Given the description of an element on the screen output the (x, y) to click on. 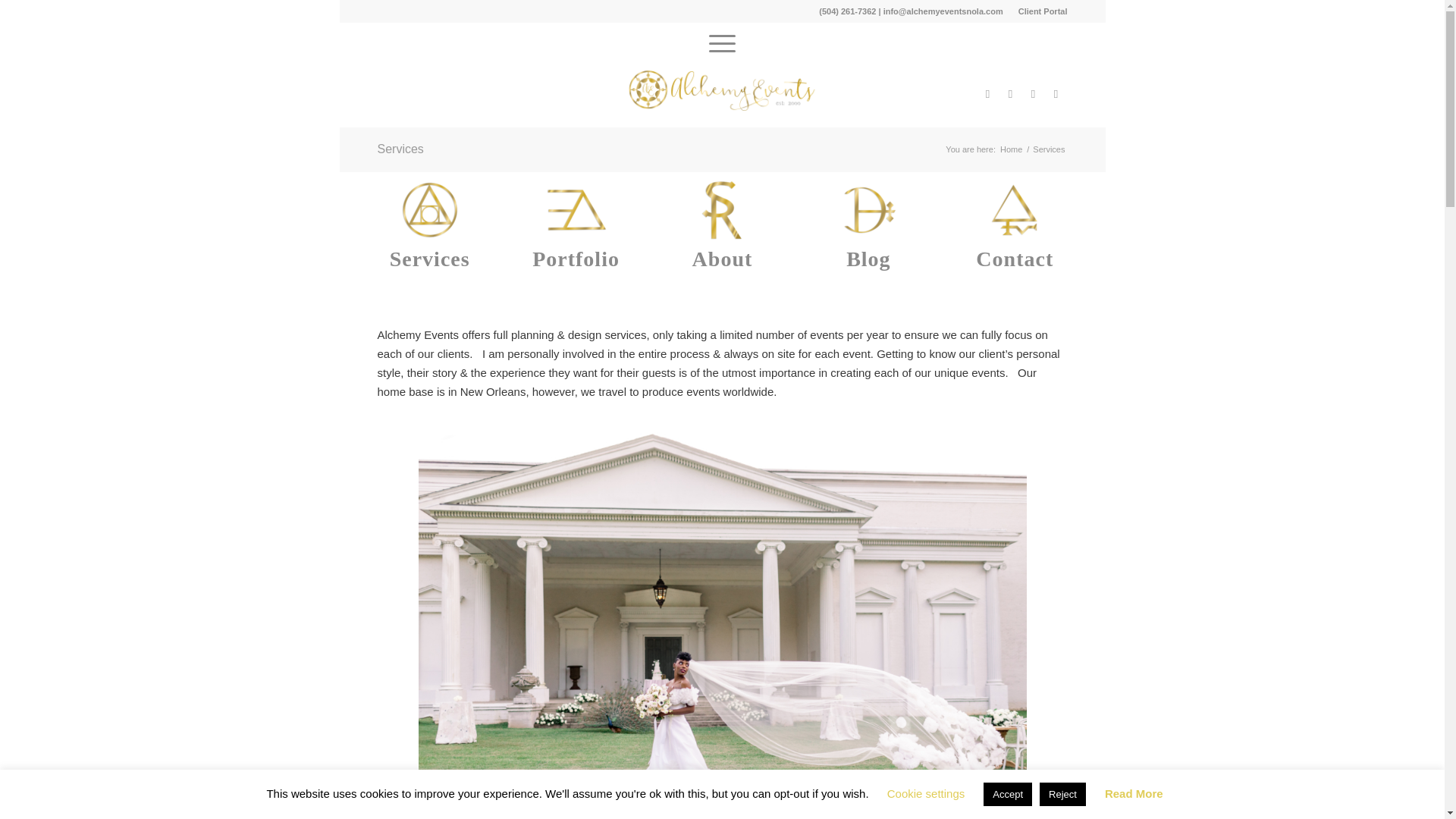
Portfolio (576, 259)
Services (400, 148)
Services (430, 259)
Permanent Link: Services (400, 148)
Portfolio (576, 259)
Services (430, 259)
About (722, 259)
Alchemy Events Service Symbol Navigation (429, 209)
Alchemy Events Portfolio Symbol Navigation (576, 209)
